Given the description of an element on the screen output the (x, y) to click on. 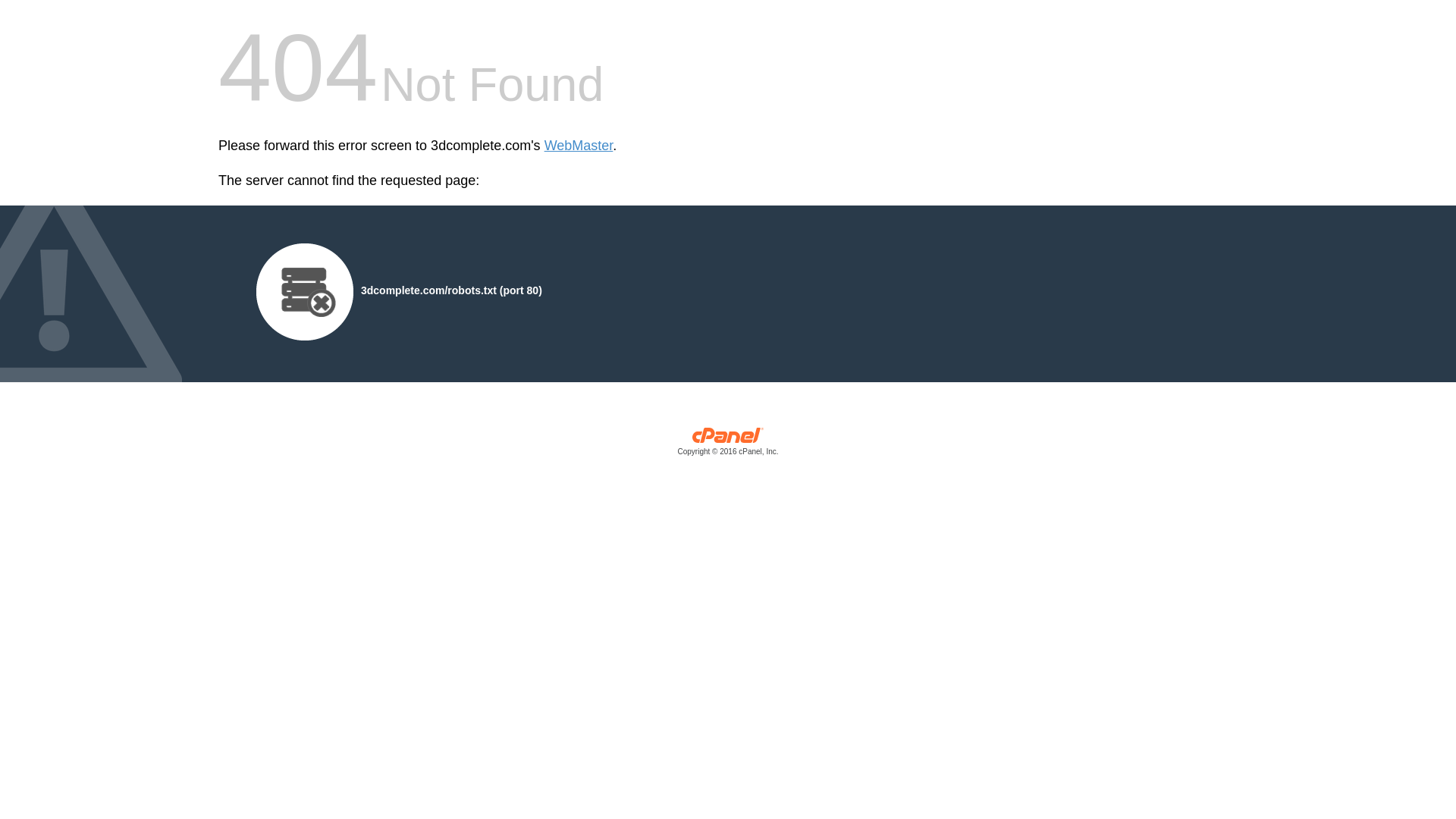
WebMaster Element type: text (578, 145)
